Given the description of an element on the screen output the (x, y) to click on. 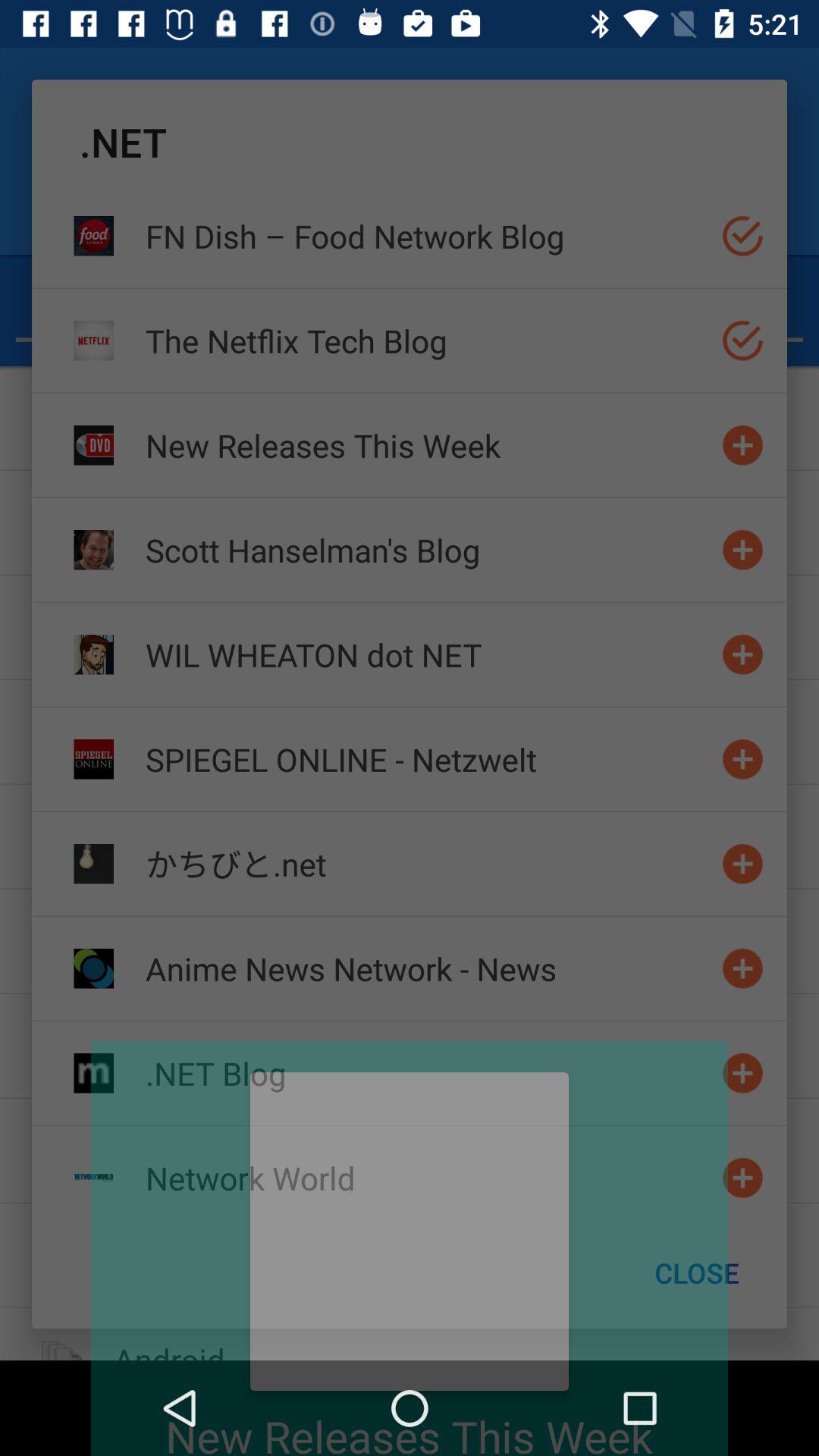
open item above scott hanselman s icon (426, 444)
